Given the description of an element on the screen output the (x, y) to click on. 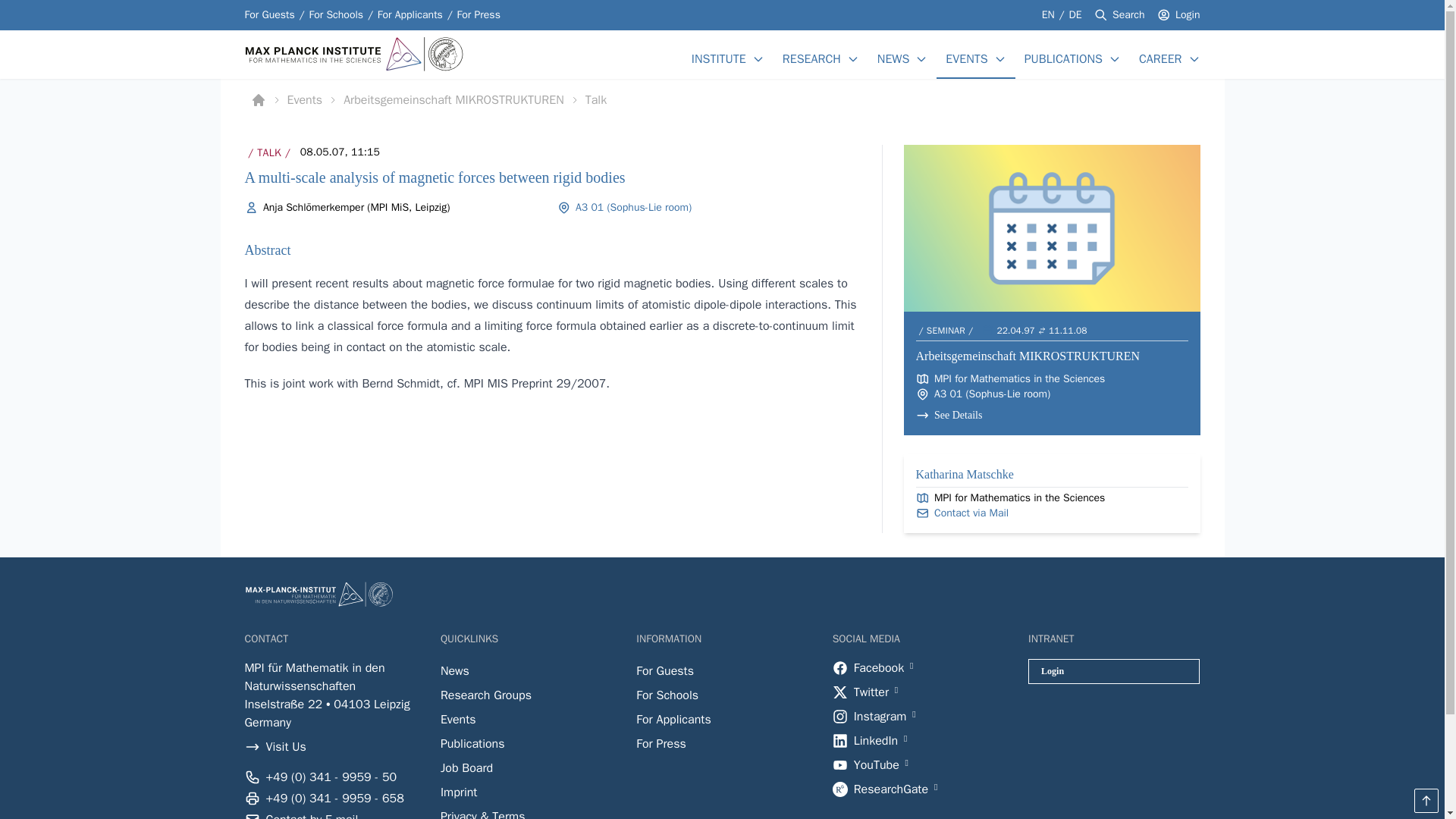
For Schools (335, 14)
For Guests (269, 14)
Research (812, 58)
For Schools (335, 14)
Login (1186, 14)
For Guests (269, 14)
For Applicants (409, 14)
EVENTS (965, 58)
For Press (478, 14)
NEWS (893, 58)
Institute (718, 58)
Search (1128, 14)
RESEARCH (812, 58)
INSTITUTE (718, 58)
For Applicants (409, 14)
